Given the description of an element on the screen output the (x, y) to click on. 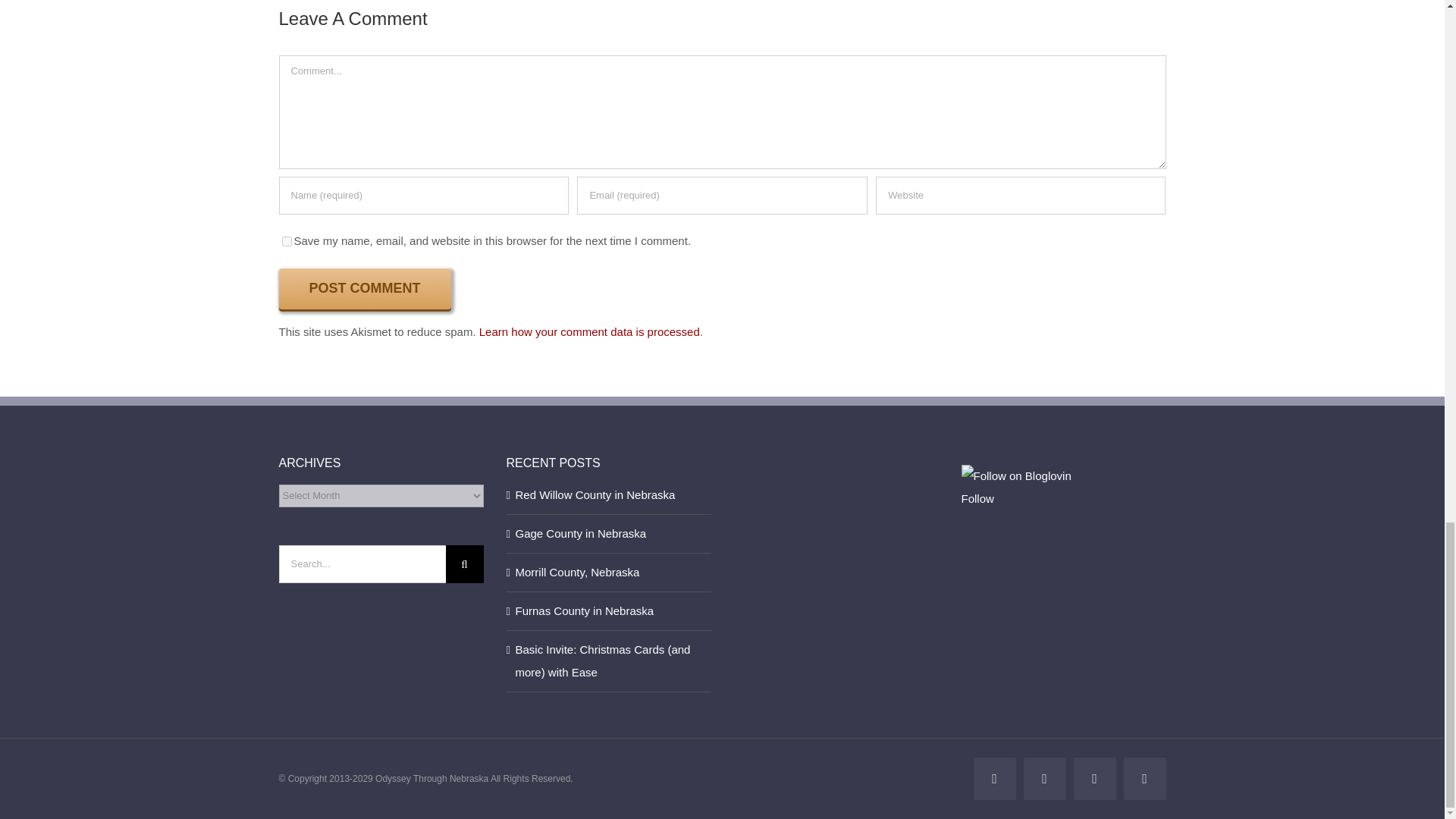
Post Comment (365, 288)
yes (287, 241)
X (1044, 778)
Follow Odyssey Through Nebraska on Bloglovin (1015, 475)
Facebook (995, 778)
